Given the description of an element on the screen output the (x, y) to click on. 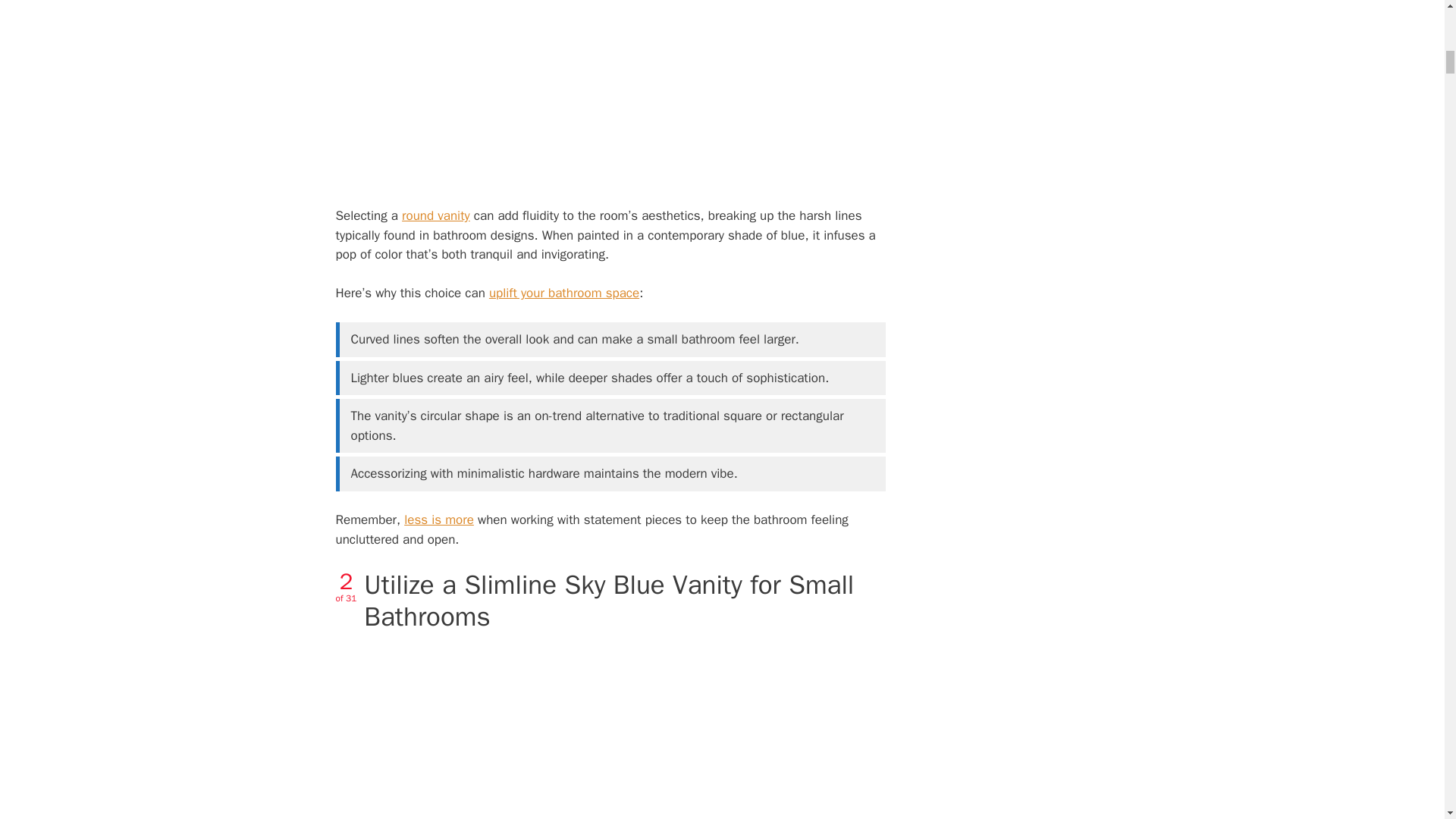
uplift your bathroom space (564, 293)
less is more (439, 519)
round vanity (435, 215)
